Given the description of an element on the screen output the (x, y) to click on. 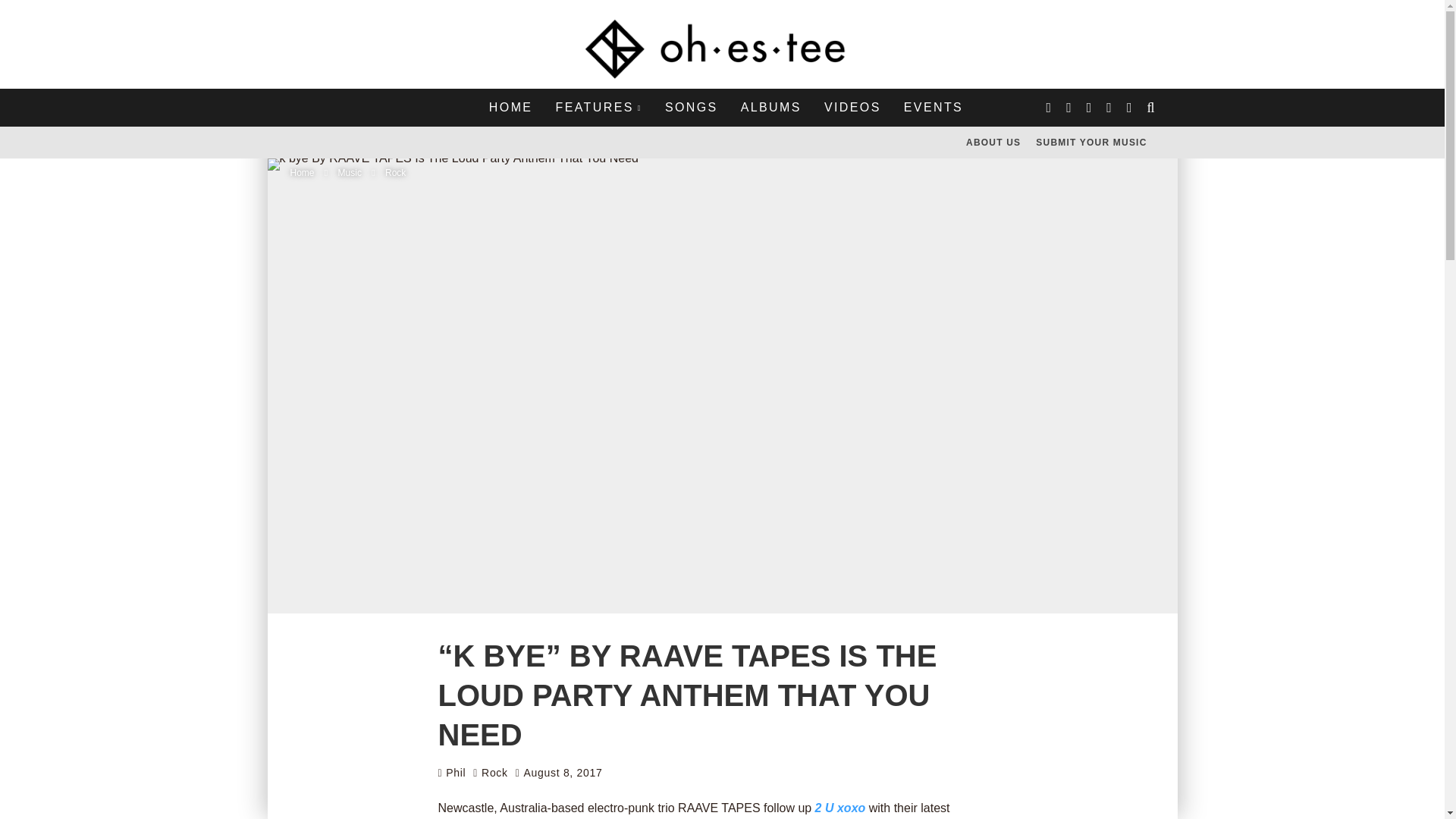
SONGS (691, 107)
HOME (510, 107)
FEATURES (597, 107)
